Given the description of an element on the screen output the (x, y) to click on. 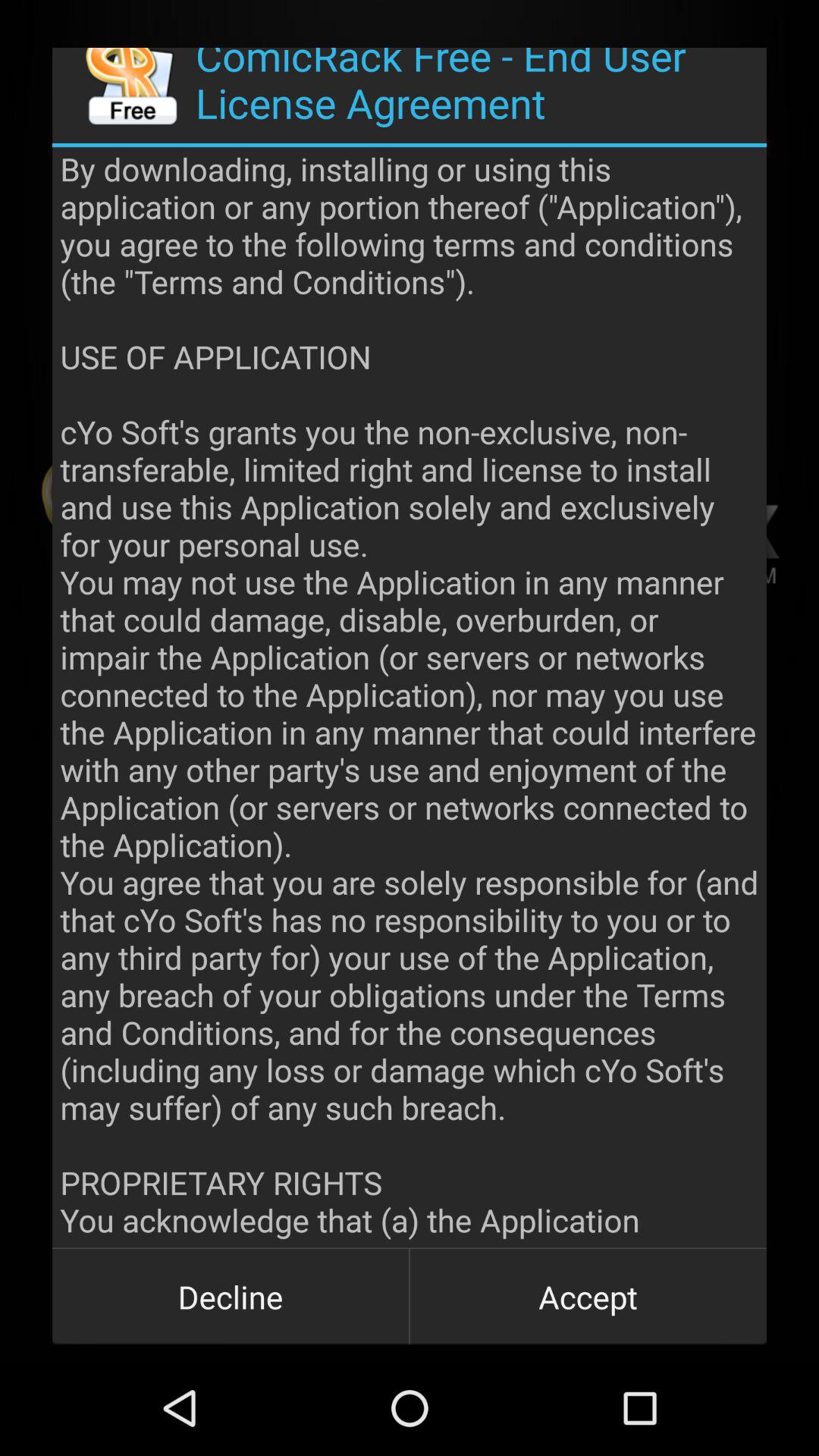
press item at the bottom left corner (230, 1296)
